Given the description of an element on the screen output the (x, y) to click on. 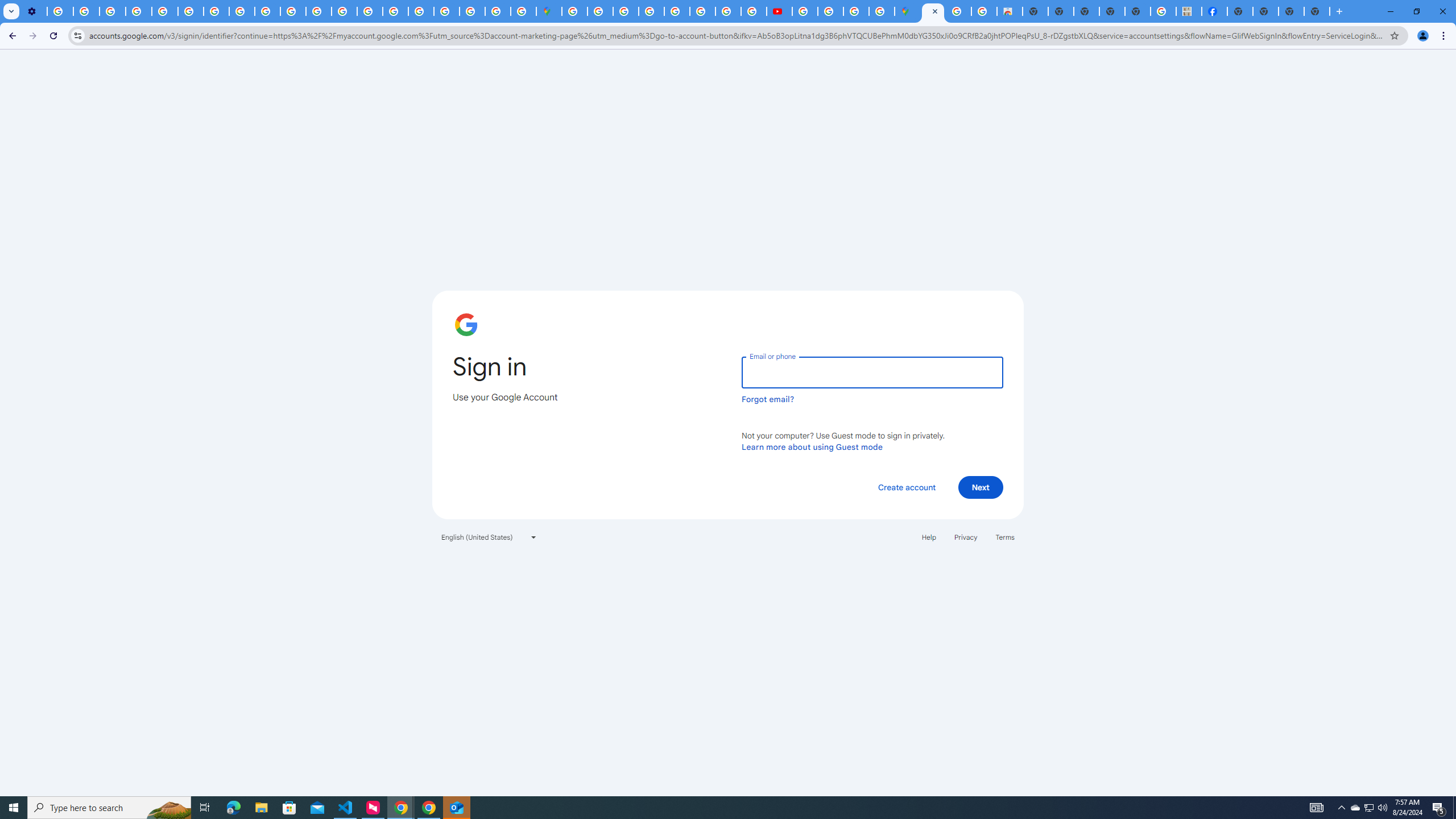
Privacy Help Center - Policies Help (344, 11)
Google Maps (907, 11)
YouTube (190, 11)
Privacy Checkup (266, 11)
Privacy Checkup (293, 11)
Minimize (1390, 11)
New Tab (1239, 11)
Terms and Conditions (676, 11)
